Given the description of an element on the screen output the (x, y) to click on. 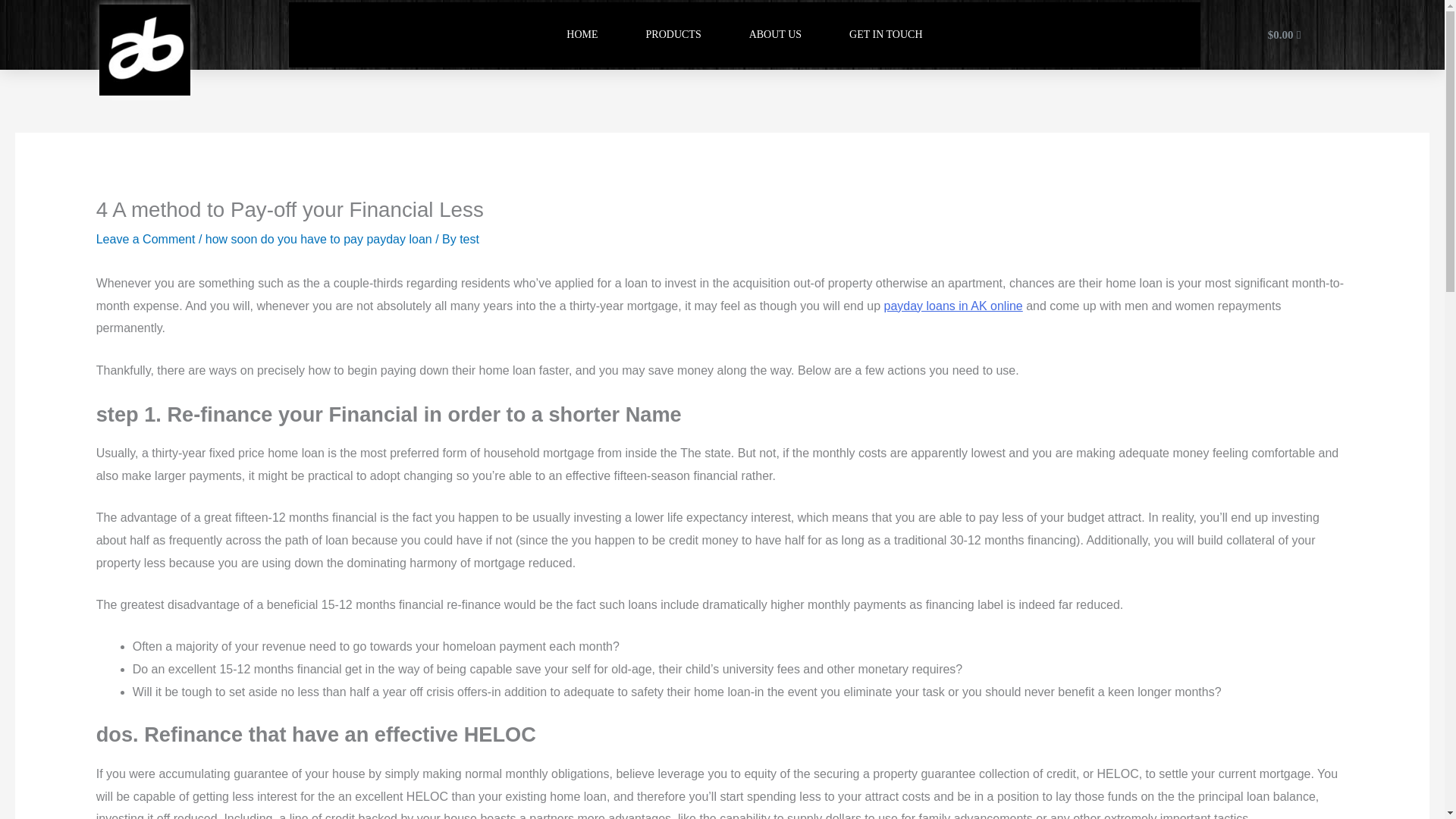
how soon do you have to pay payday loan (318, 238)
Leave a Comment (145, 238)
GET IN TOUCH (885, 34)
payday loans in AK online (953, 305)
HOME (581, 34)
PRODUCTS (674, 34)
View all posts by test (469, 238)
test (469, 238)
ABOUT US (775, 34)
